Given the description of an element on the screen output the (x, y) to click on. 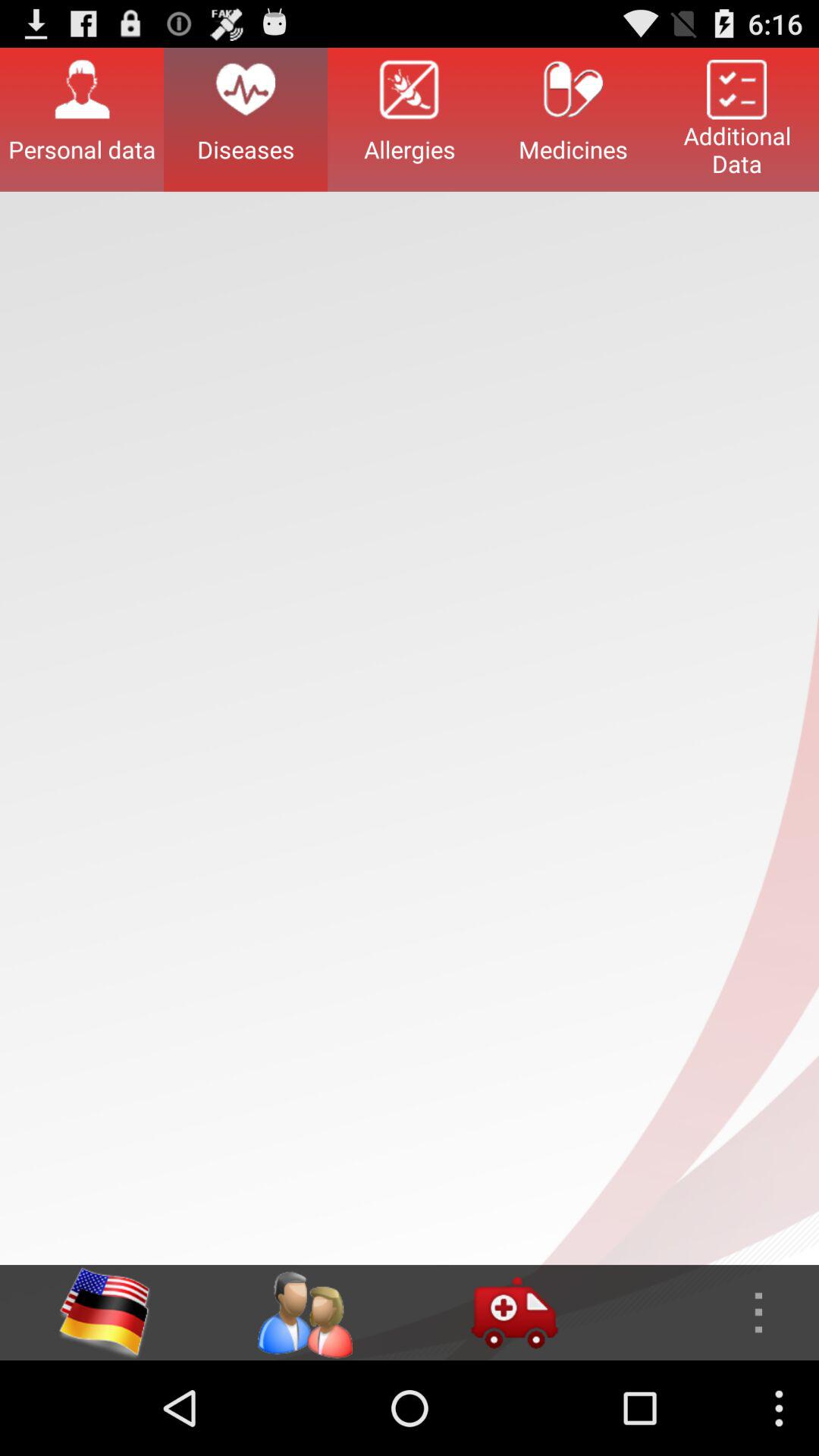
click (514, 1312)
